Given the description of an element on the screen output the (x, y) to click on. 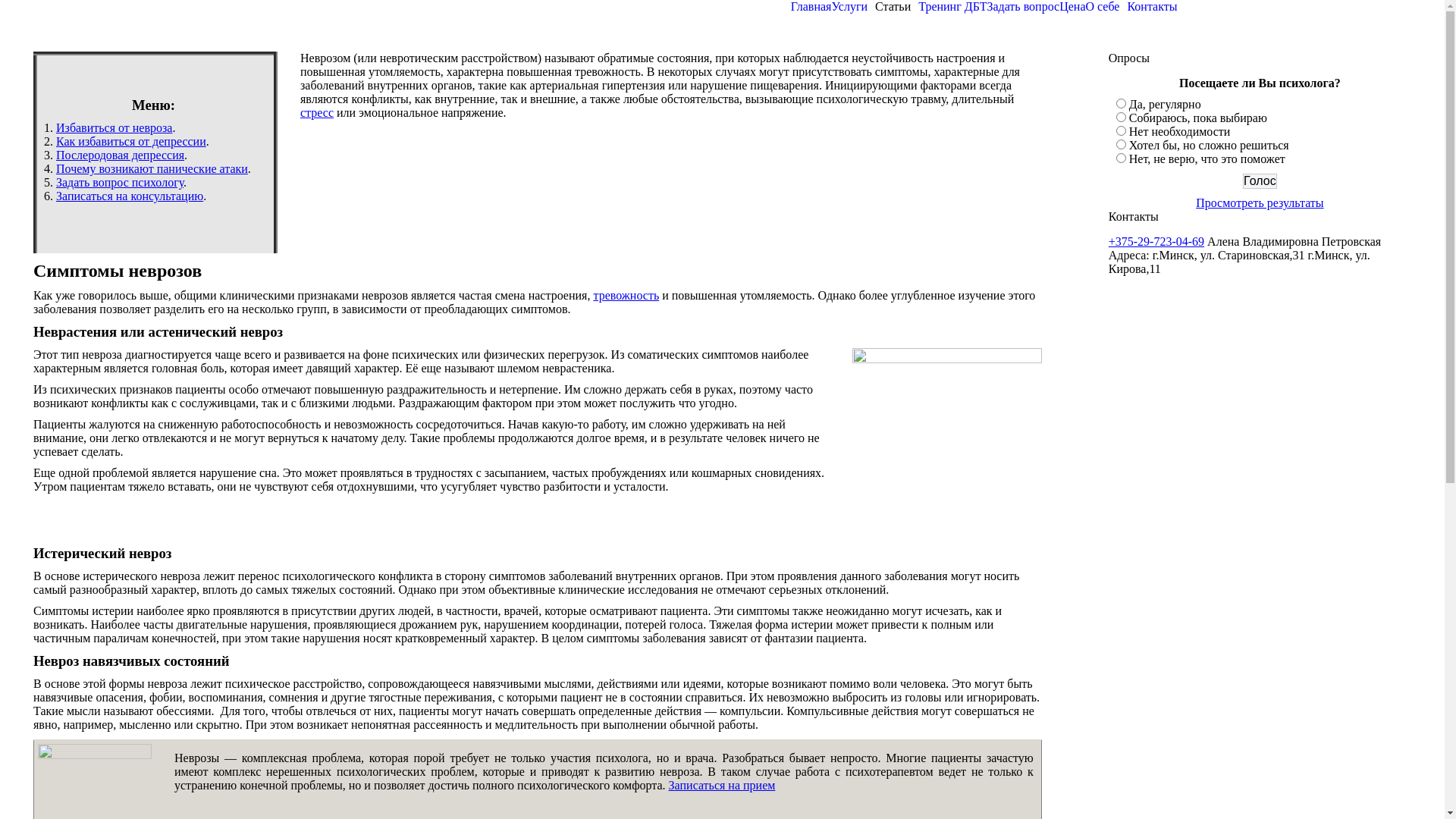
+375-29-723-04-69 Element type: text (1156, 241)
